Given the description of an element on the screen output the (x, y) to click on. 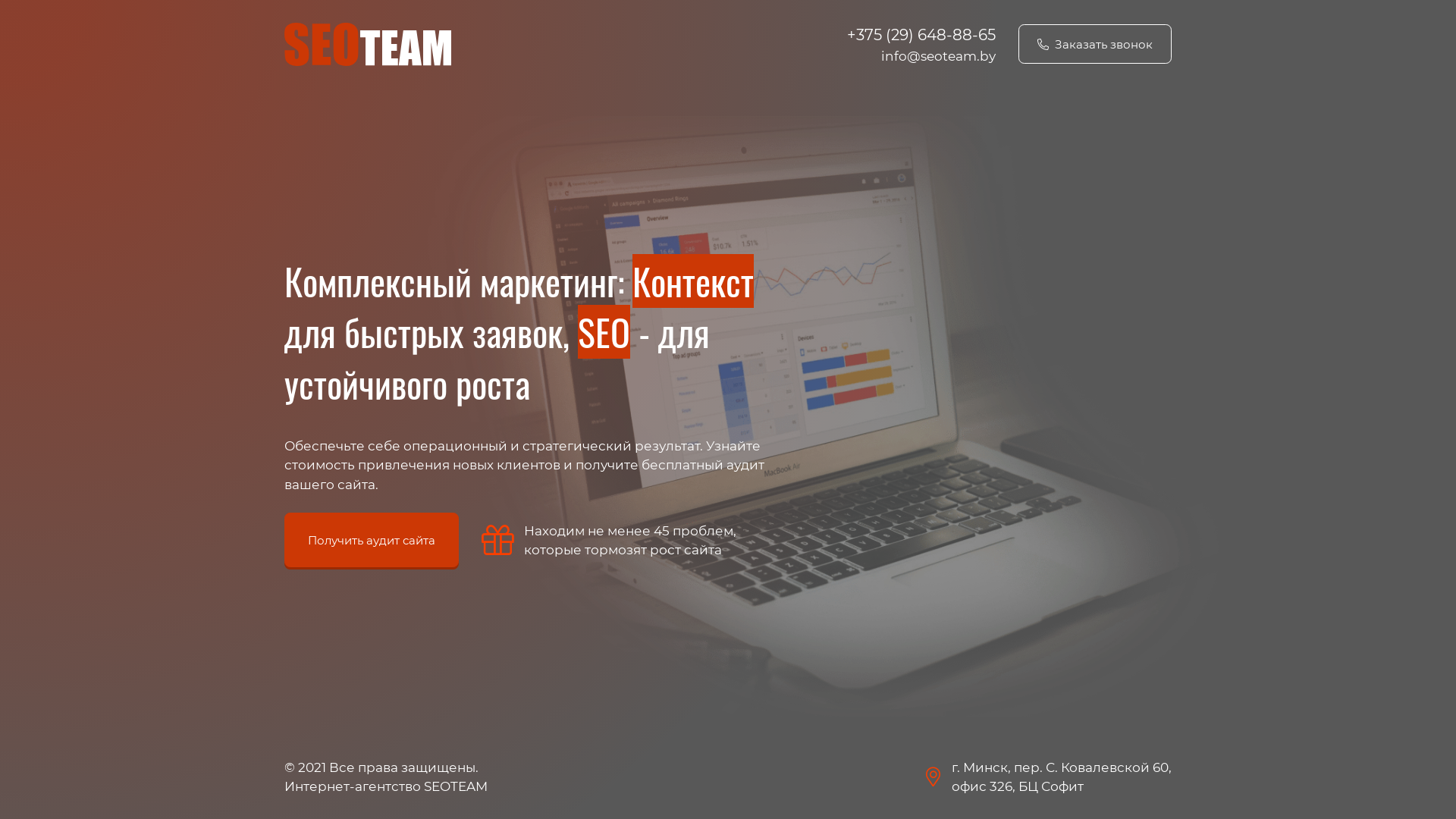
info@seoteam.by Element type: text (938, 55)
+375 (29) 648-88-65 Element type: text (921, 34)
